Given the description of an element on the screen output the (x, y) to click on. 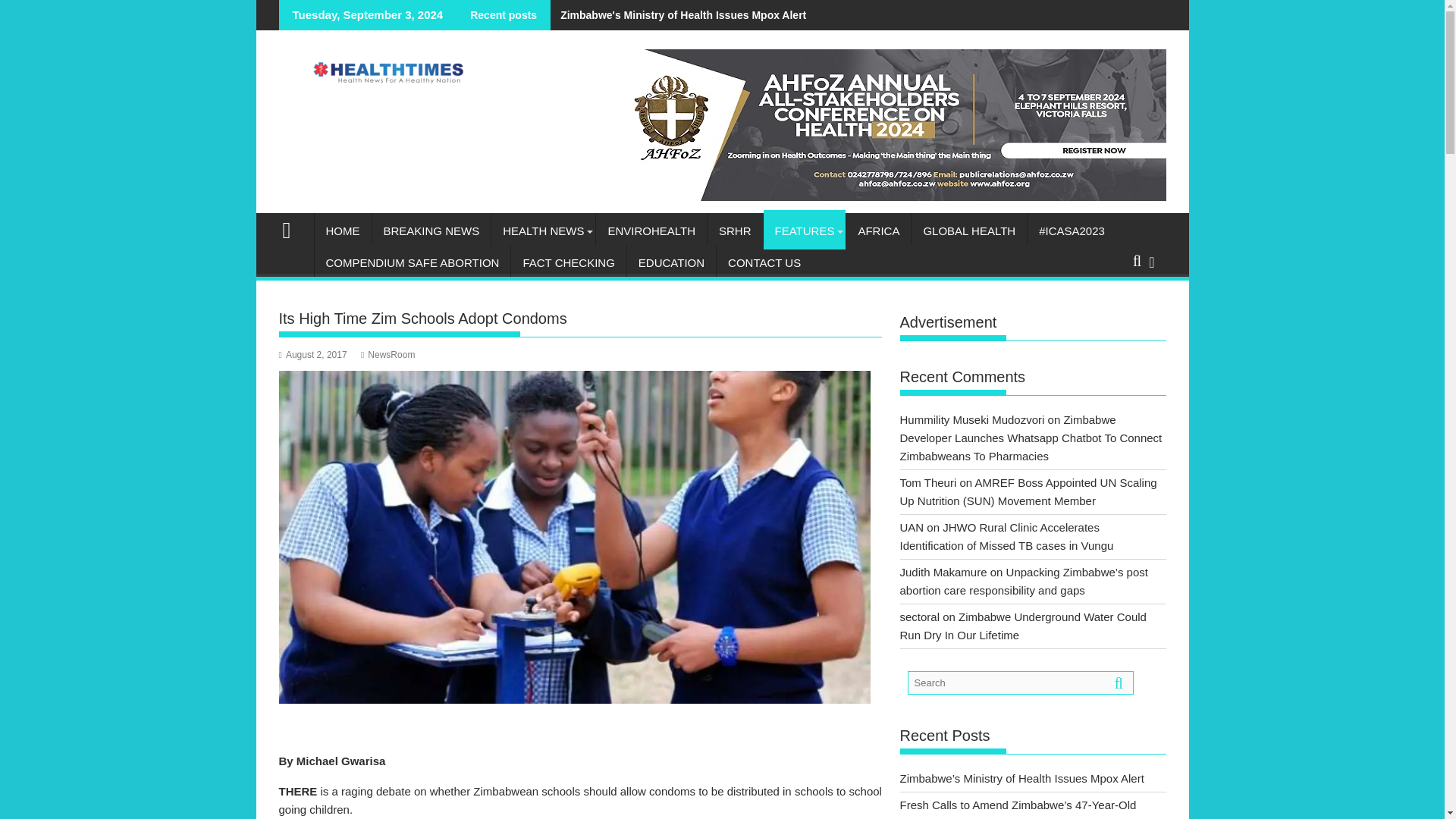
ENVIROHEALTH (650, 230)
FEATURES (803, 230)
BREAKING NEWS (430, 230)
HEALTH NEWS (543, 230)
SRHR (734, 230)
Zimbabwe's Ministry of Health Issues Mpox Alert (678, 15)
COMPENDIUM SAFE ABORTION (412, 262)
HOME (342, 230)
HealthTimes (293, 228)
Zimbabwe's Ministry of Health Issues Mpox Alert (678, 15)
